Given the description of an element on the screen output the (x, y) to click on. 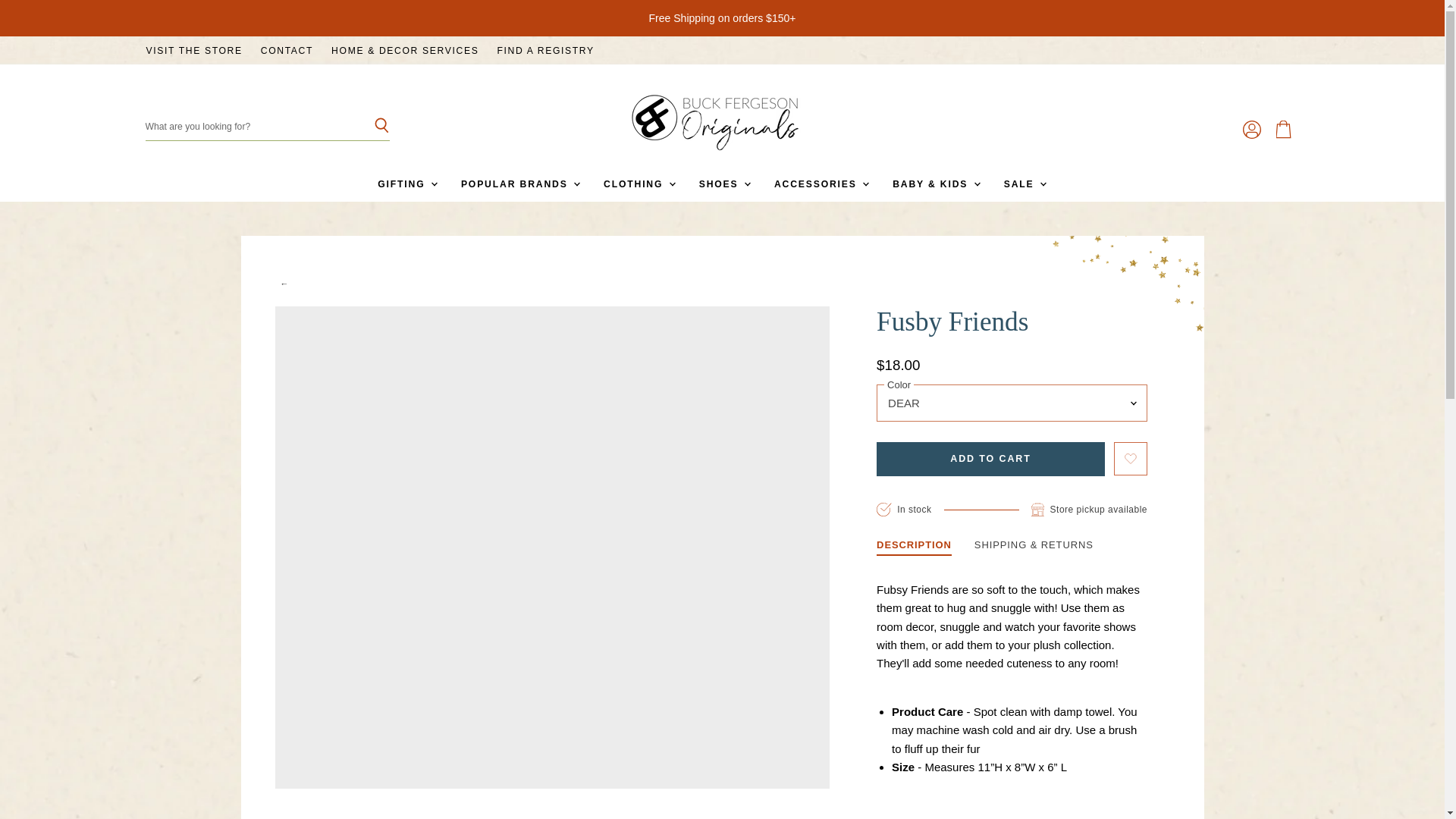
GIFTING (405, 183)
CONTACT (286, 50)
CLOTHING (638, 183)
POPULAR BRANDS (519, 183)
VISIT THE STORE (193, 50)
FIND A REGISTRY (545, 50)
Add to Wishlist (1130, 458)
View account (1251, 130)
